Given the description of an element on the screen output the (x, y) to click on. 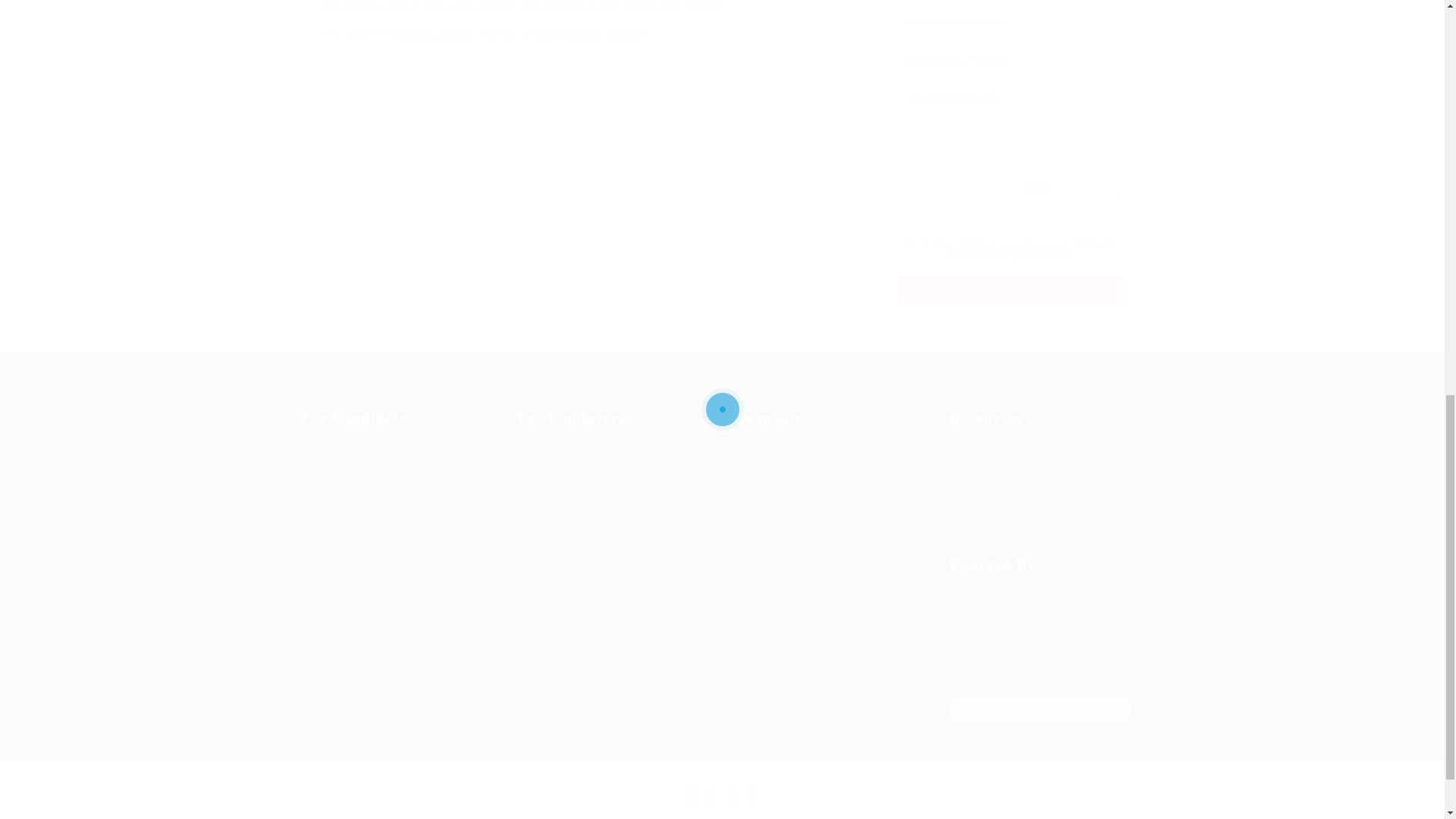
on (903, 226)
Send now (1010, 292)
Send now (1010, 292)
